Given the description of an element on the screen output the (x, y) to click on. 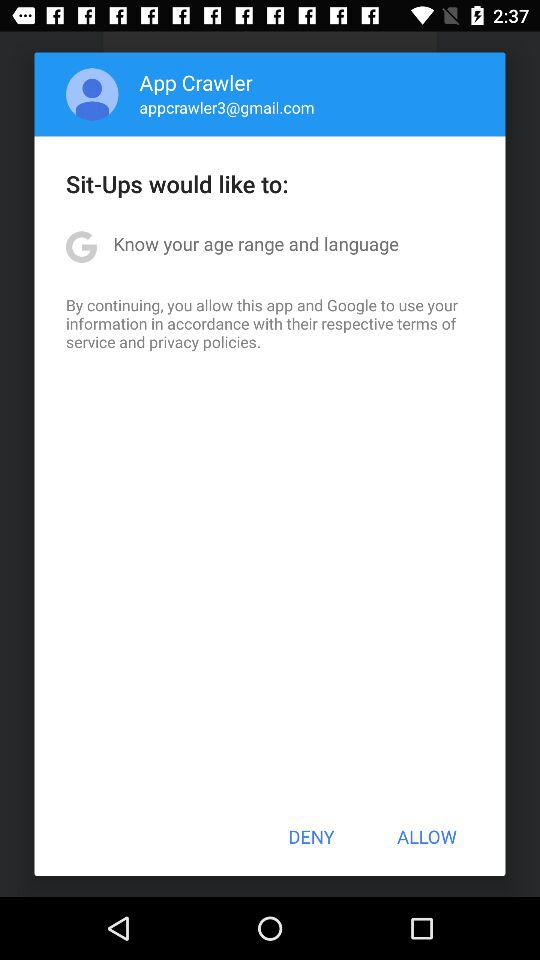
press the button at the bottom (311, 836)
